Given the description of an element on the screen output the (x, y) to click on. 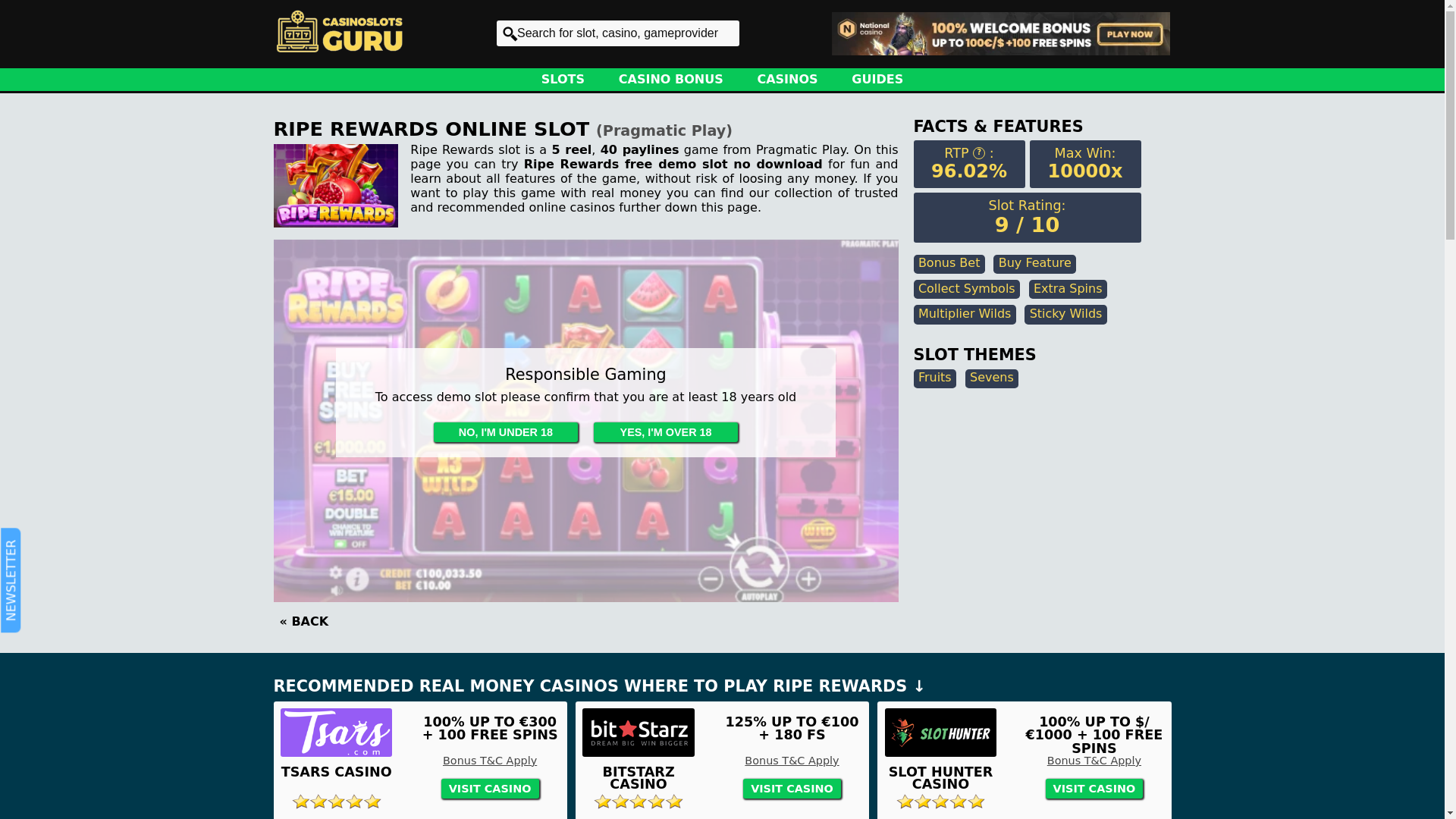
3 characters minimum (617, 32)
Return to Player (978, 152)
CasinoSlotsGuru - Home of free online slots (339, 31)
